Given the description of an element on the screen output the (x, y) to click on. 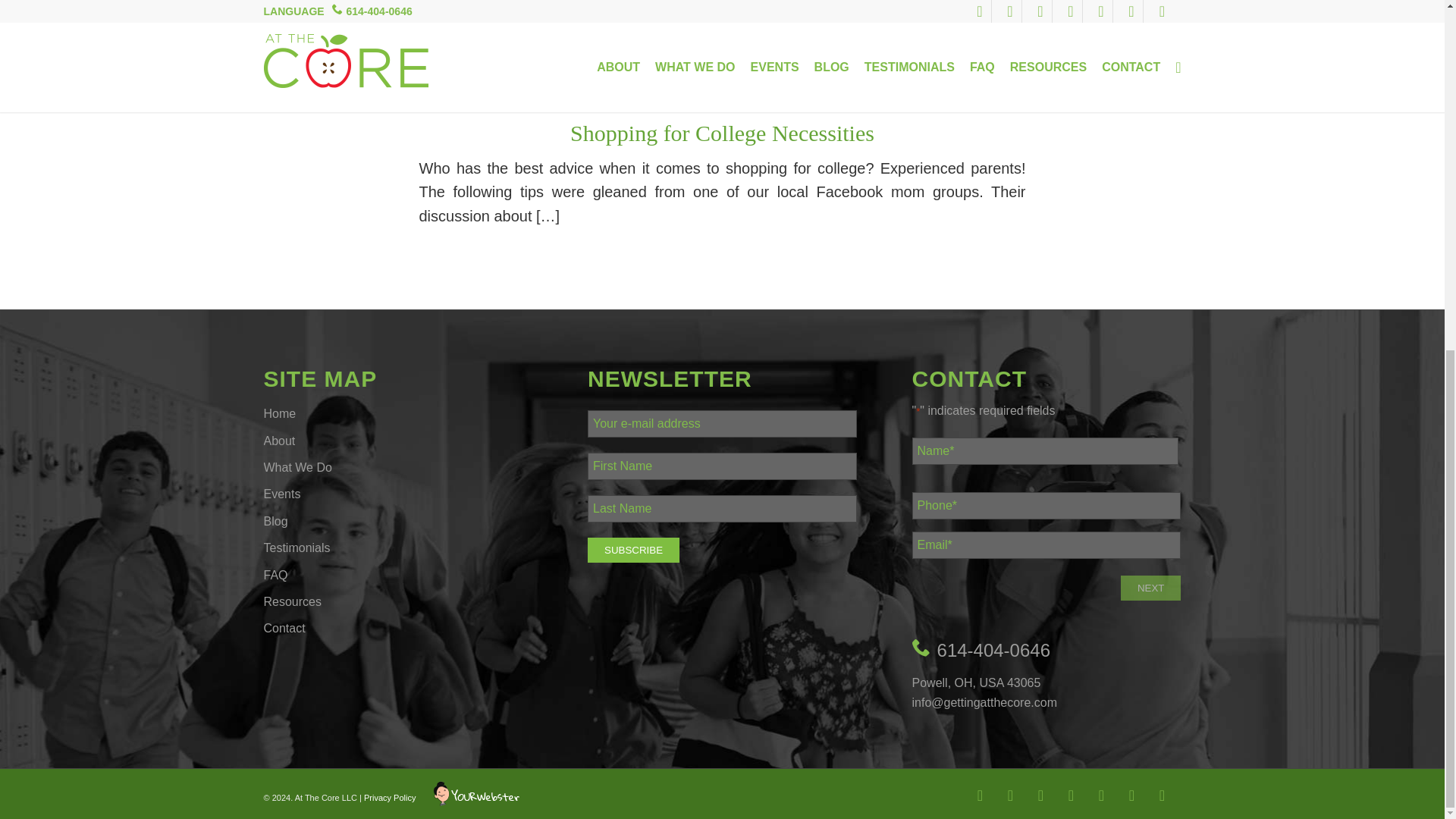
NEXT (1150, 587)
SUBSCRIBE (633, 549)
